Given the description of an element on the screen output the (x, y) to click on. 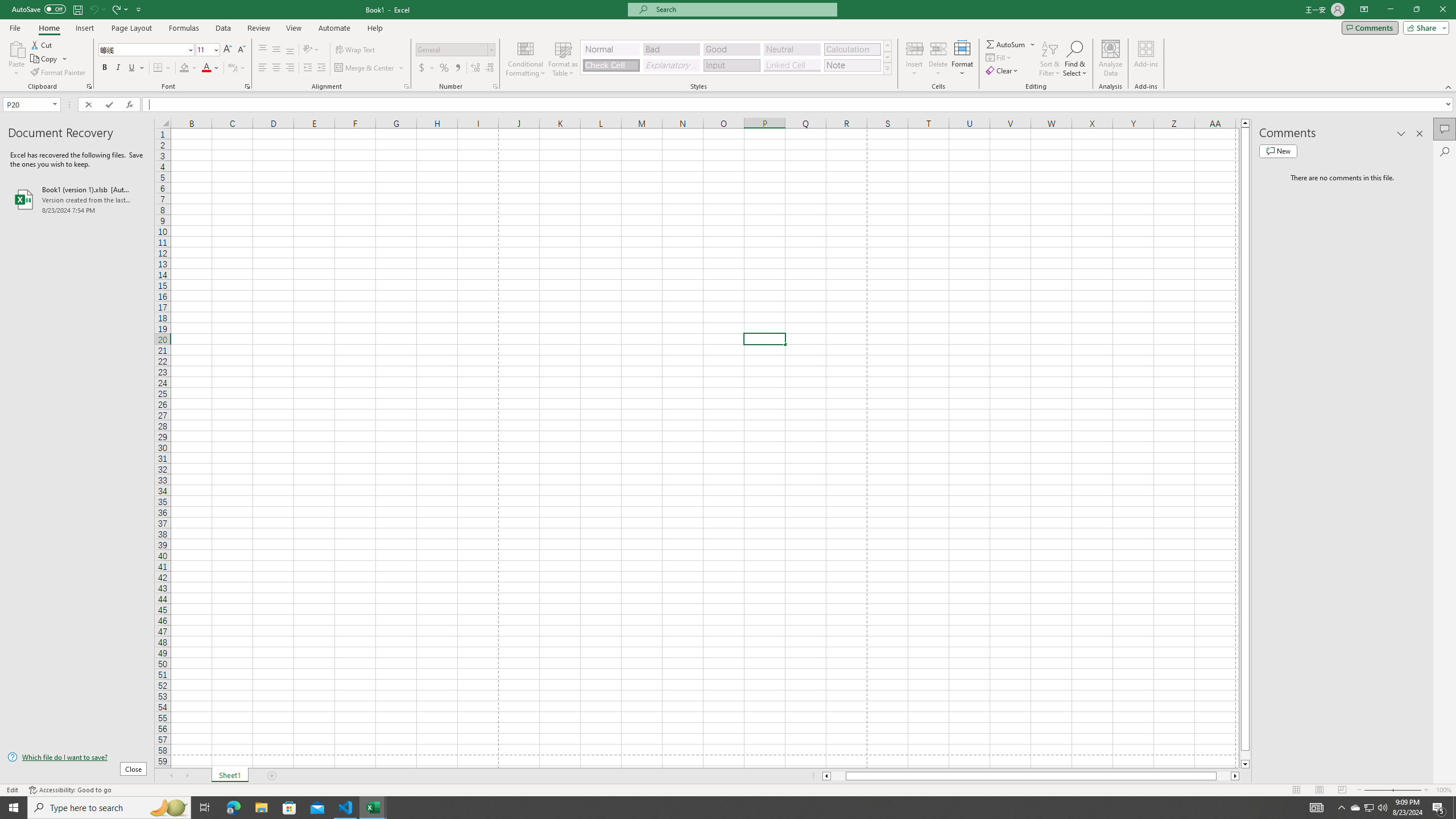
Cell Styles (887, 68)
Customize Quick Access Toolbar (139, 9)
Office Clipboard... (88, 85)
AutomationID: CellStylesGallery (736, 57)
Top Align (262, 49)
Bottom Border (157, 67)
Font Color RGB(255, 0, 0) (206, 67)
Decrease Decimal (489, 67)
Paste (16, 48)
Share (1423, 27)
Font Size (204, 49)
Zoom (1392, 790)
Orientation (311, 49)
